Given the description of an element on the screen output the (x, y) to click on. 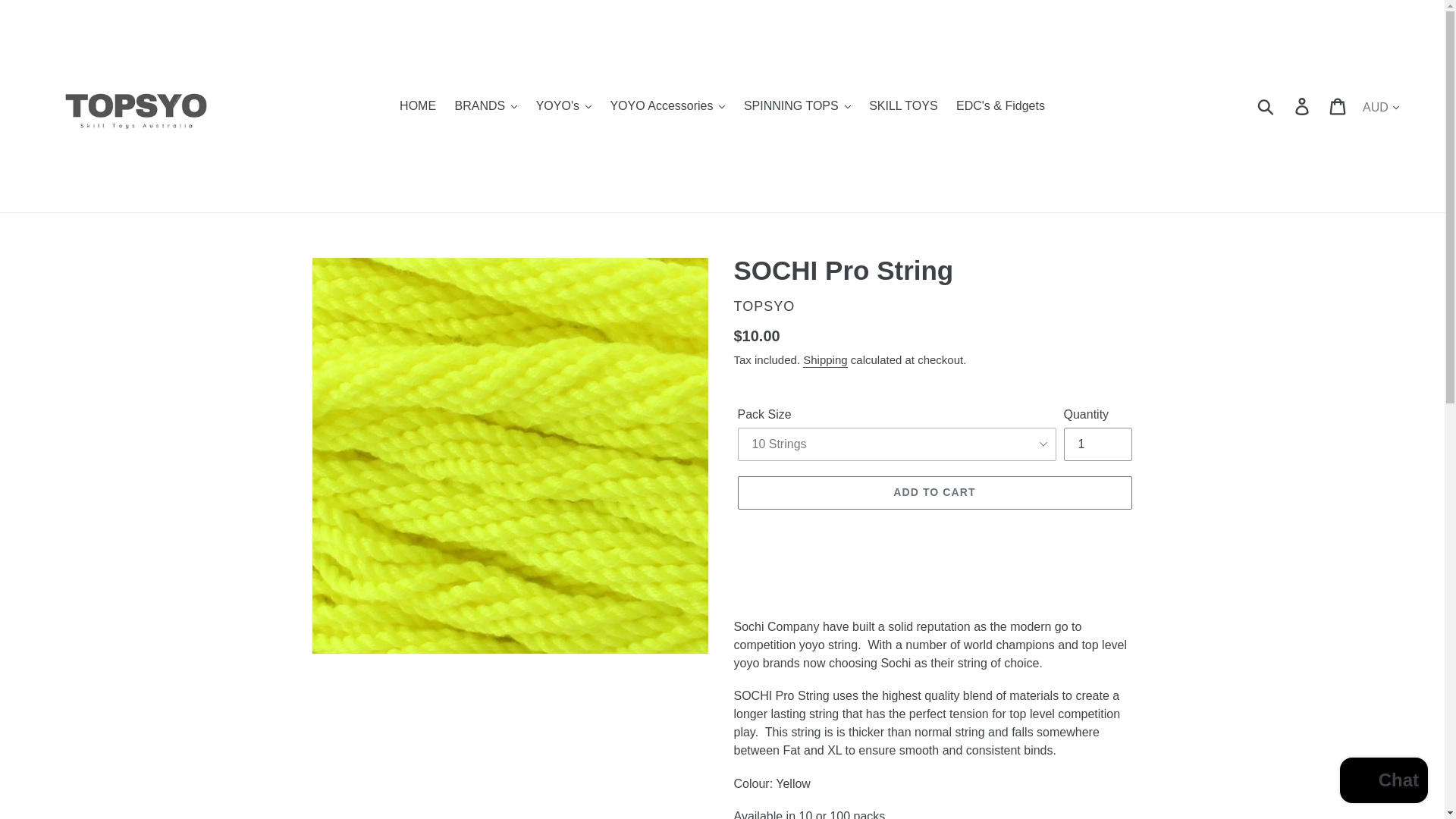
1 (1096, 444)
Shopify online store chat (1383, 781)
HOME (417, 106)
